Given the description of an element on the screen output the (x, y) to click on. 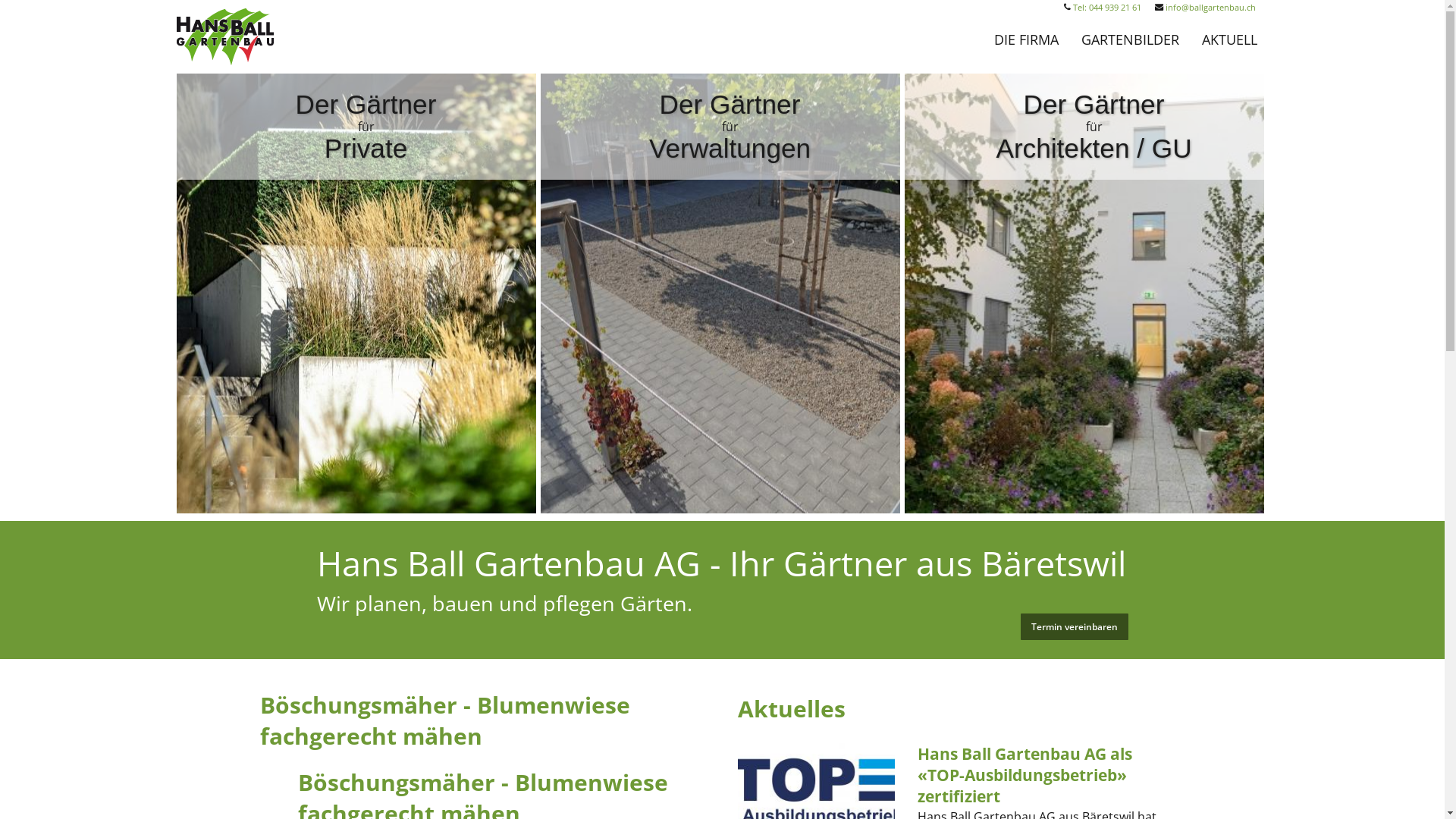
GARTENBILDER Element type: text (1129, 48)
DIE FIRMA Element type: text (1026, 48)
info@ballgartenbau.ch Element type: text (1209, 6)
AKTUELL Element type: text (1229, 48)
Tel: 044 939 21 61 Element type: text (1106, 6)
Termin vereinbaren Element type: text (1074, 626)
